Given the description of an element on the screen output the (x, y) to click on. 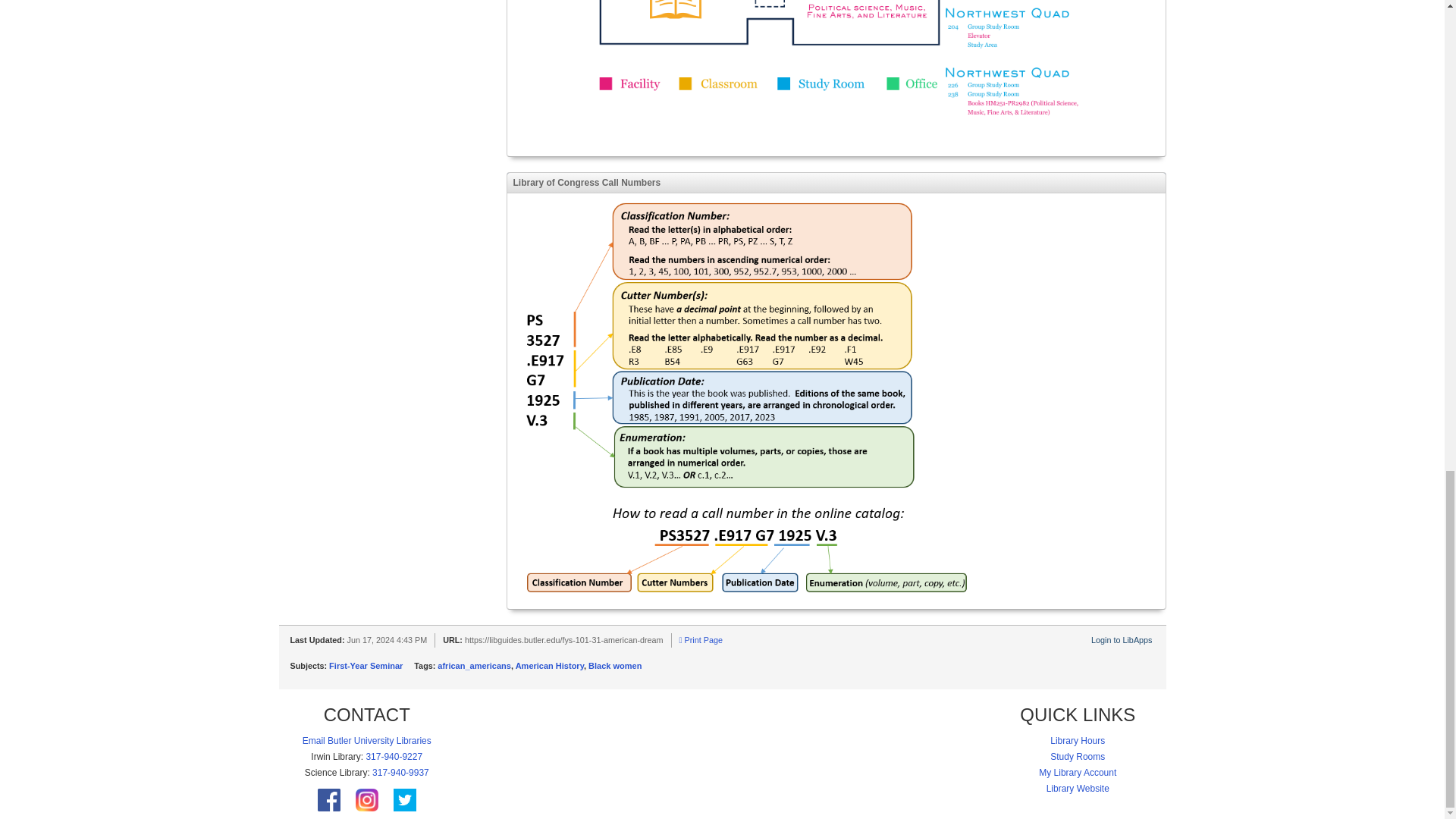
Black women (615, 665)
Login to LibApps (1120, 639)
317-940-9227 (393, 756)
317-940-9937 (400, 772)
Study Rooms (1077, 756)
Print Page (700, 639)
Library Website (1077, 787)
American History (549, 665)
My Library Account (1077, 772)
Library Hours (1077, 740)
First-Year Seminar (366, 665)
Email Butler University Libraries (366, 740)
